Given the description of an element on the screen output the (x, y) to click on. 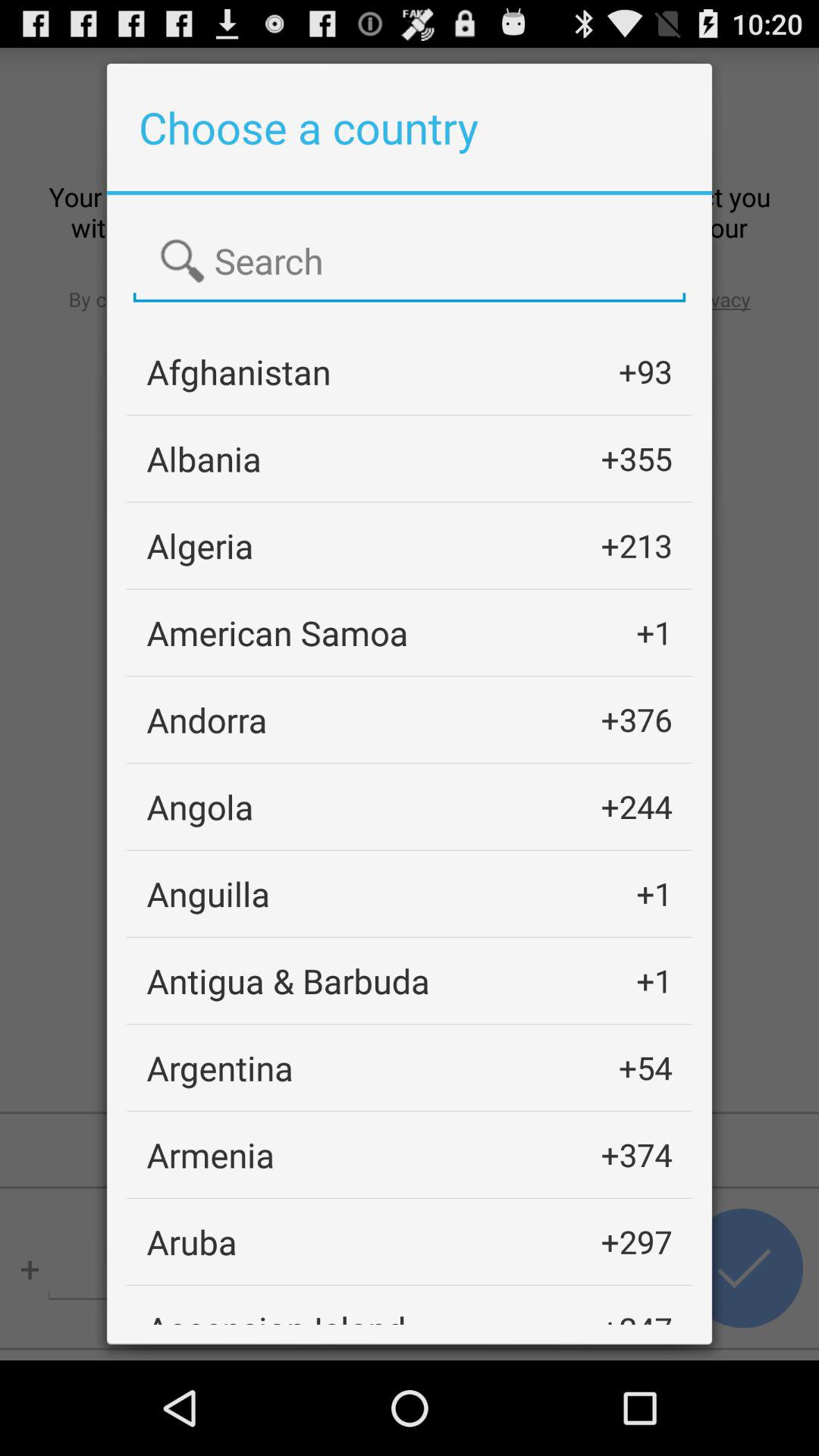
jump to argentina icon (219, 1067)
